Given the description of an element on the screen output the (x, y) to click on. 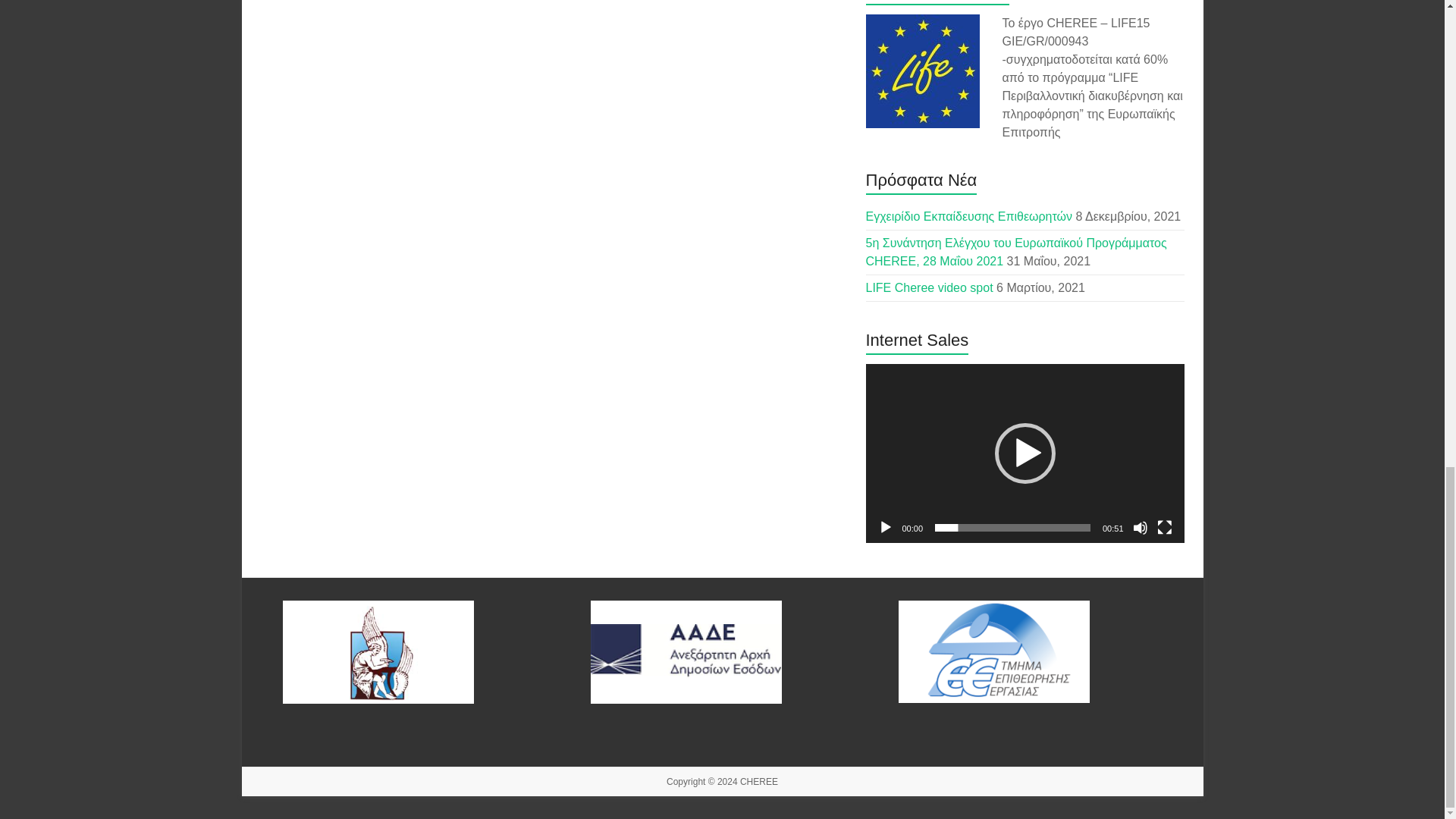
CHEREE (758, 781)
